Given the description of an element on the screen output the (x, y) to click on. 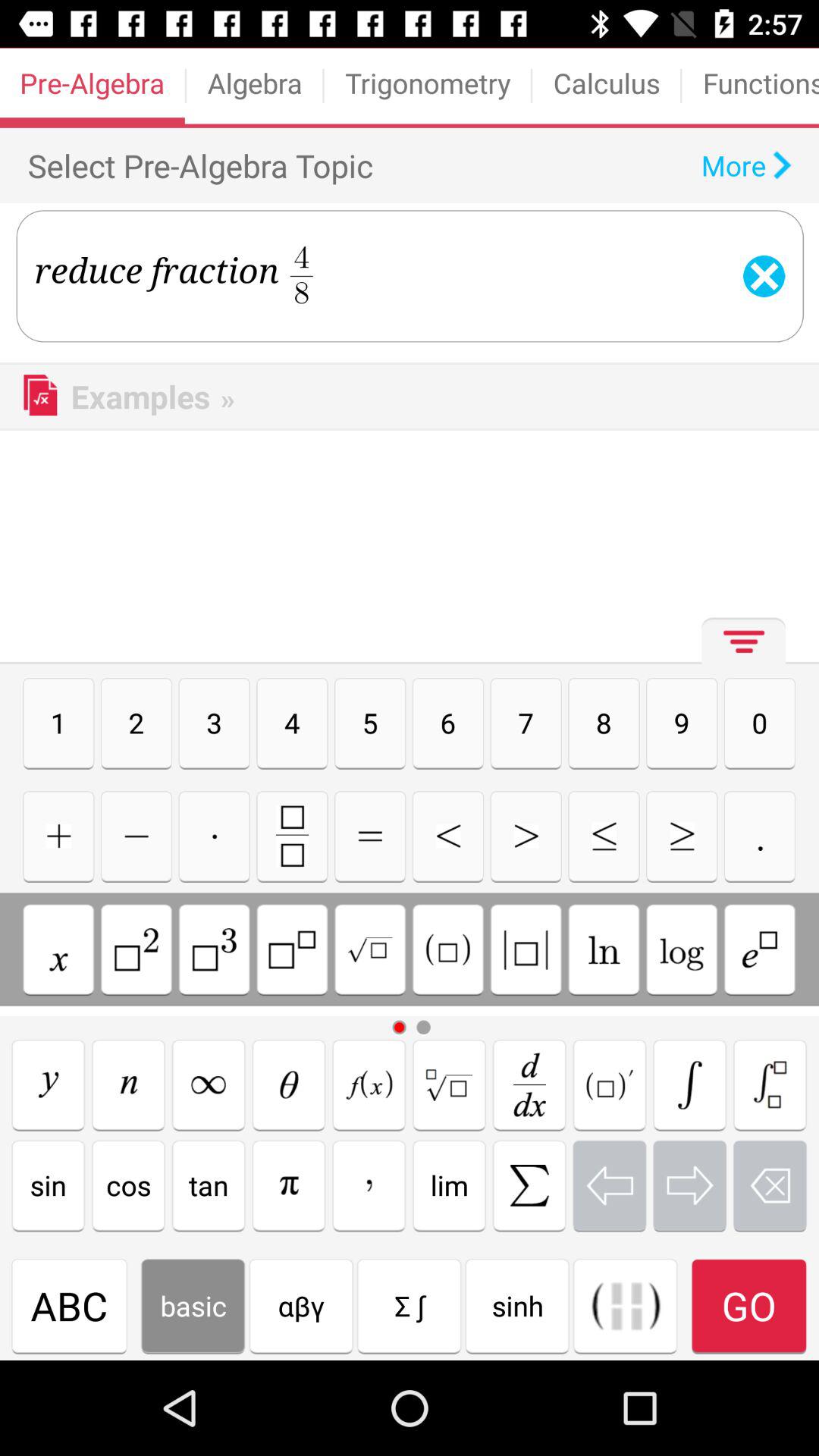
use infinity symbol (208, 1084)
